Given the description of an element on the screen output the (x, y) to click on. 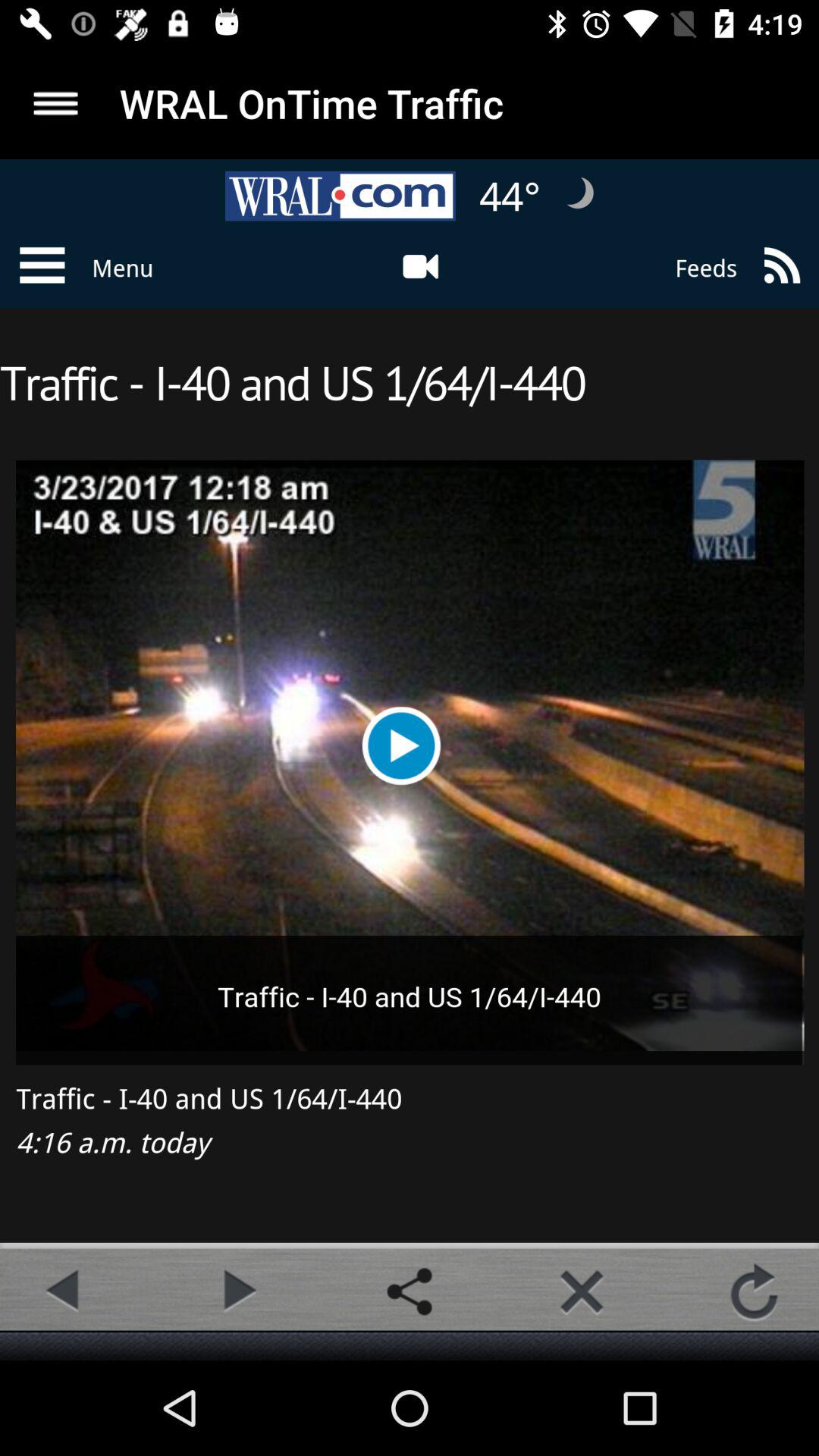
click to more option (55, 103)
